Given the description of an element on the screen output the (x, y) to click on. 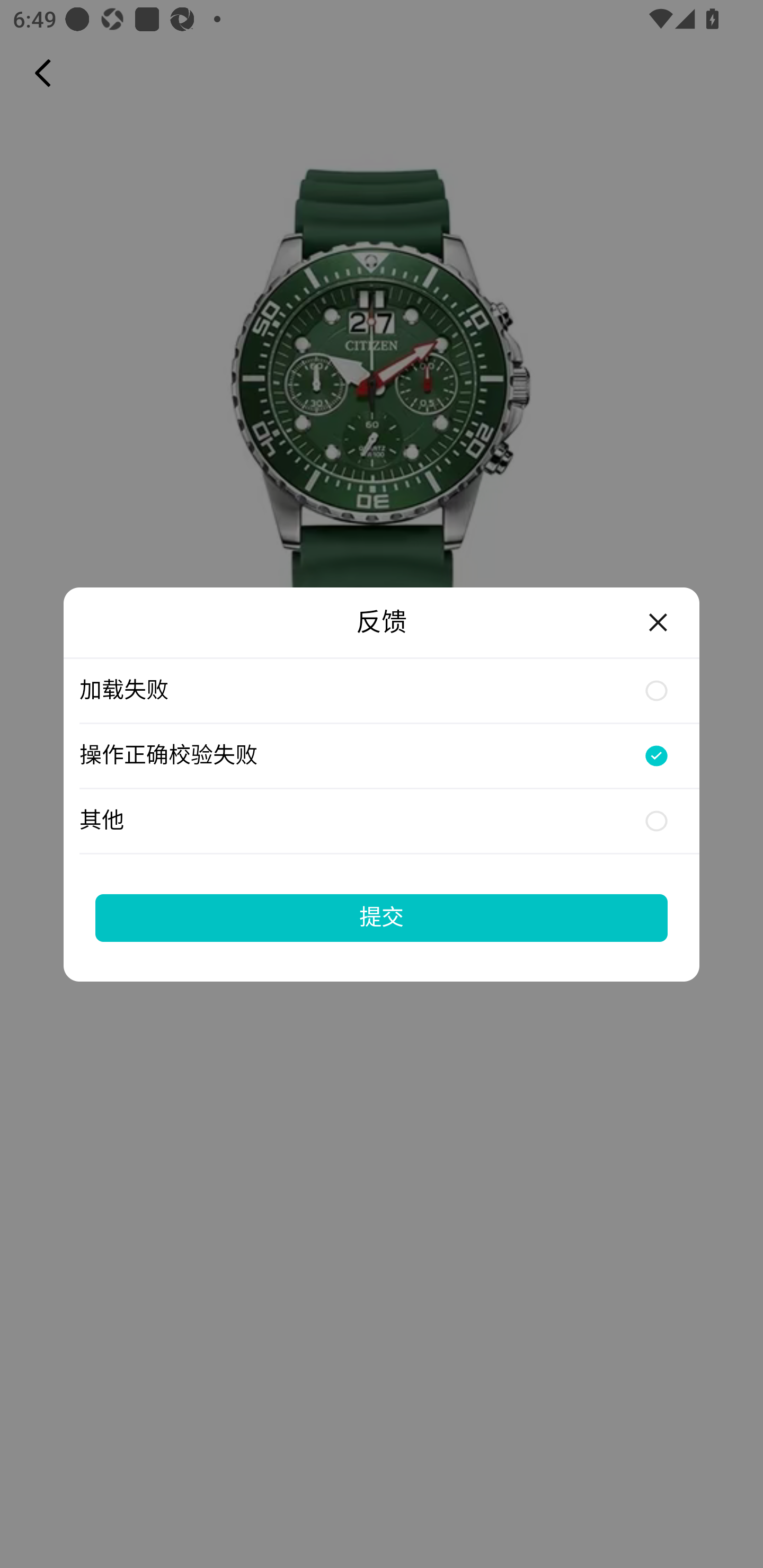
提交 (381, 917)
